Given the description of an element on the screen output the (x, y) to click on. 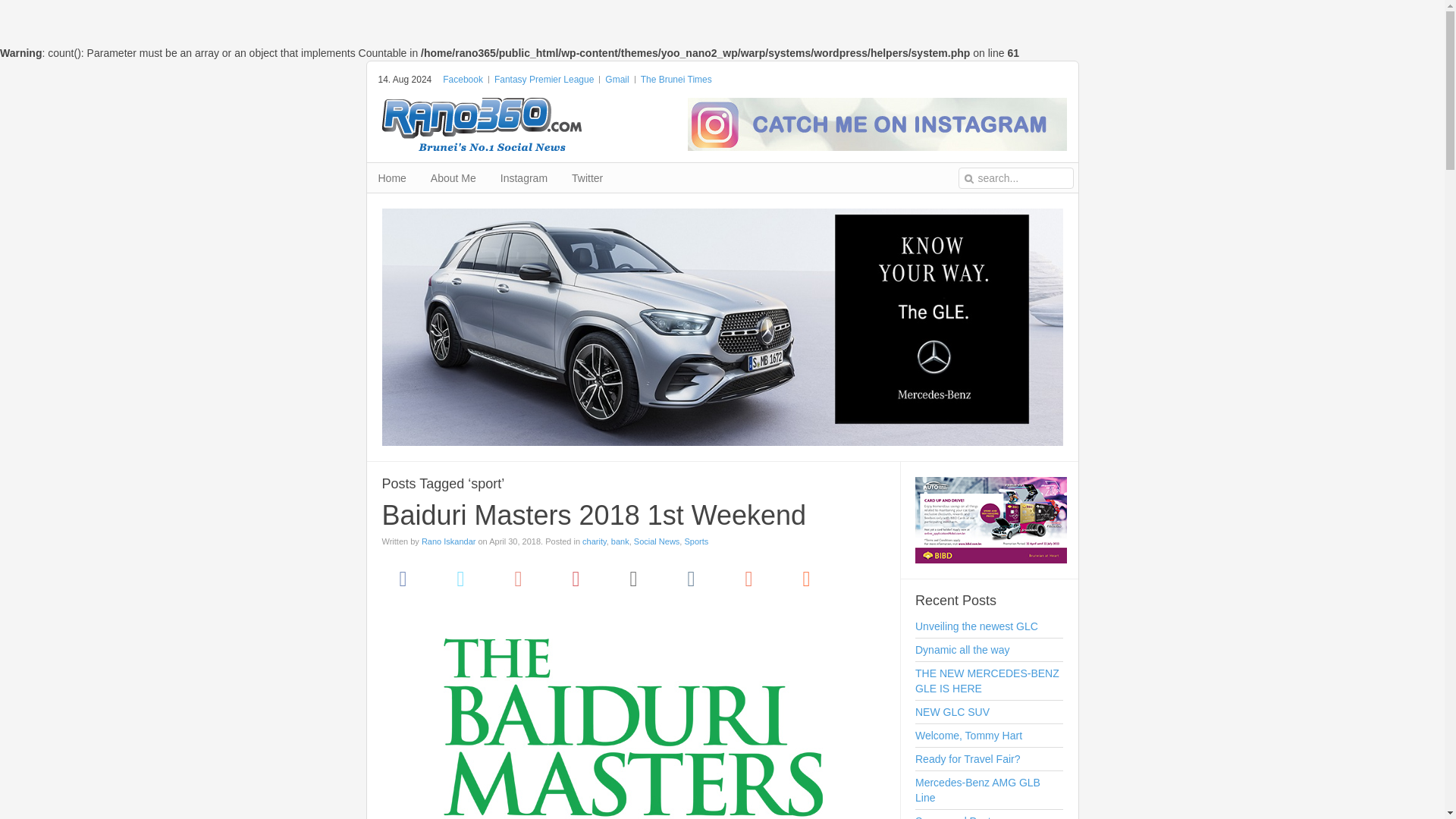
Home (392, 177)
The Brunei Times (675, 79)
Facebook (403, 578)
Social News (656, 541)
Baiduri Masters 2018 1st Weekend (593, 514)
Tumblr (691, 578)
Gmail (616, 79)
Baiduri Masters 2018 1st Weekend (593, 514)
Rano Iskandar (449, 541)
Welcome, Tommy Hart (988, 735)
